Given the description of an element on the screen output the (x, y) to click on. 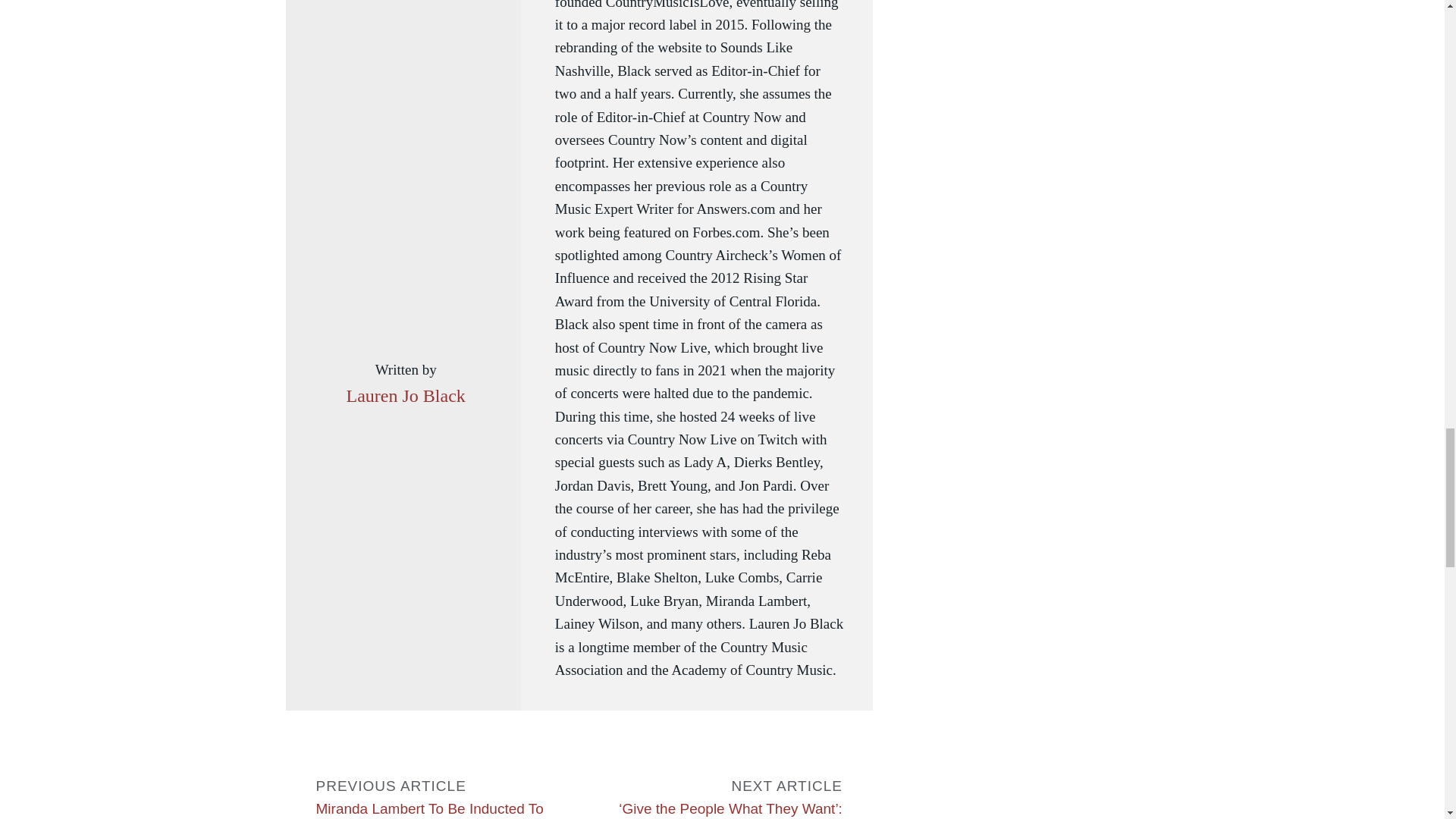
Lauren Jo Black (405, 395)
